Given the description of an element on the screen output the (x, y) to click on. 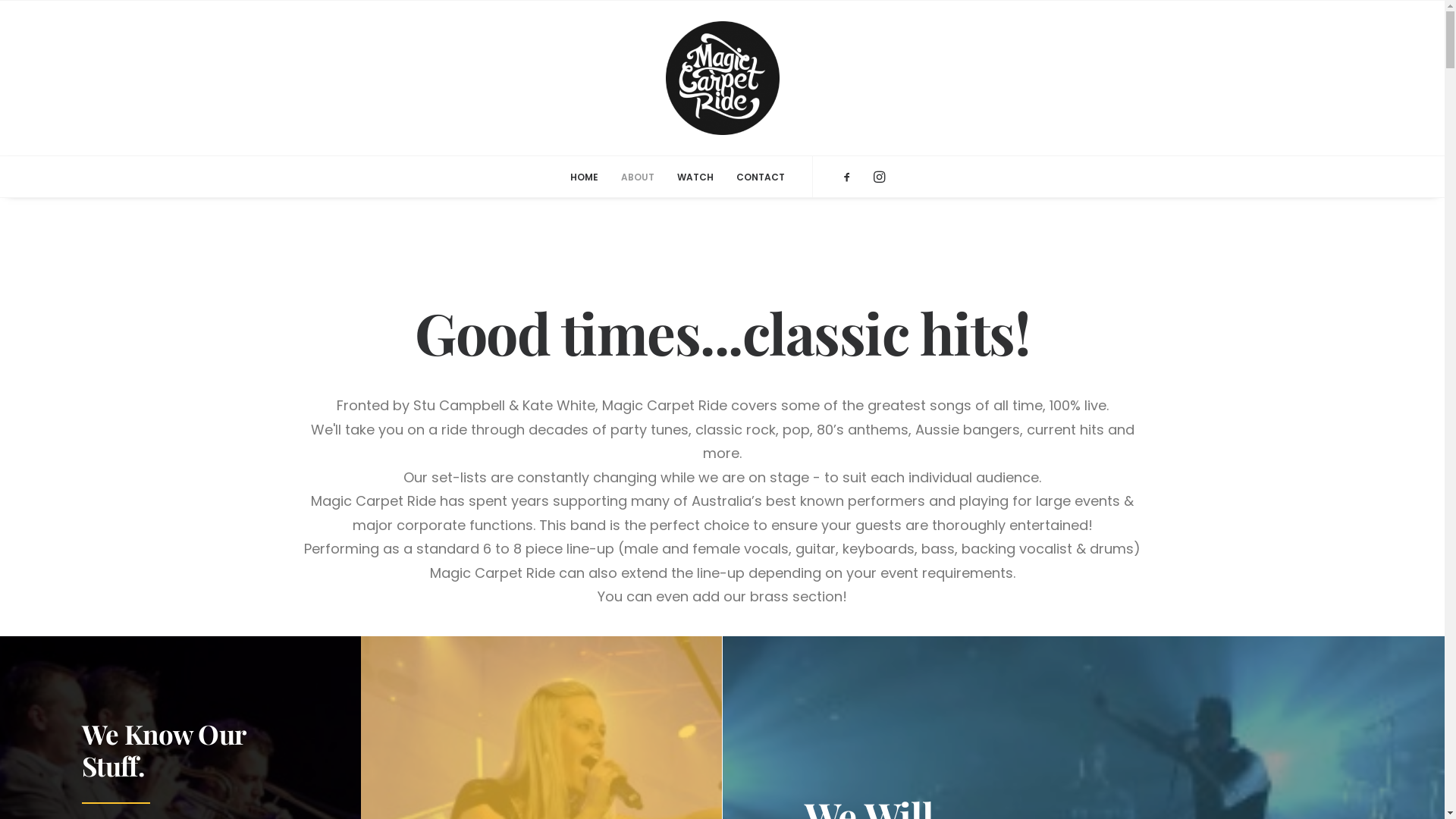
ABOUT Element type: text (637, 176)
WATCH Element type: text (695, 176)
HOME Element type: text (583, 176)
CONTACT Element type: text (755, 176)
